Given the description of an element on the screen output the (x, y) to click on. 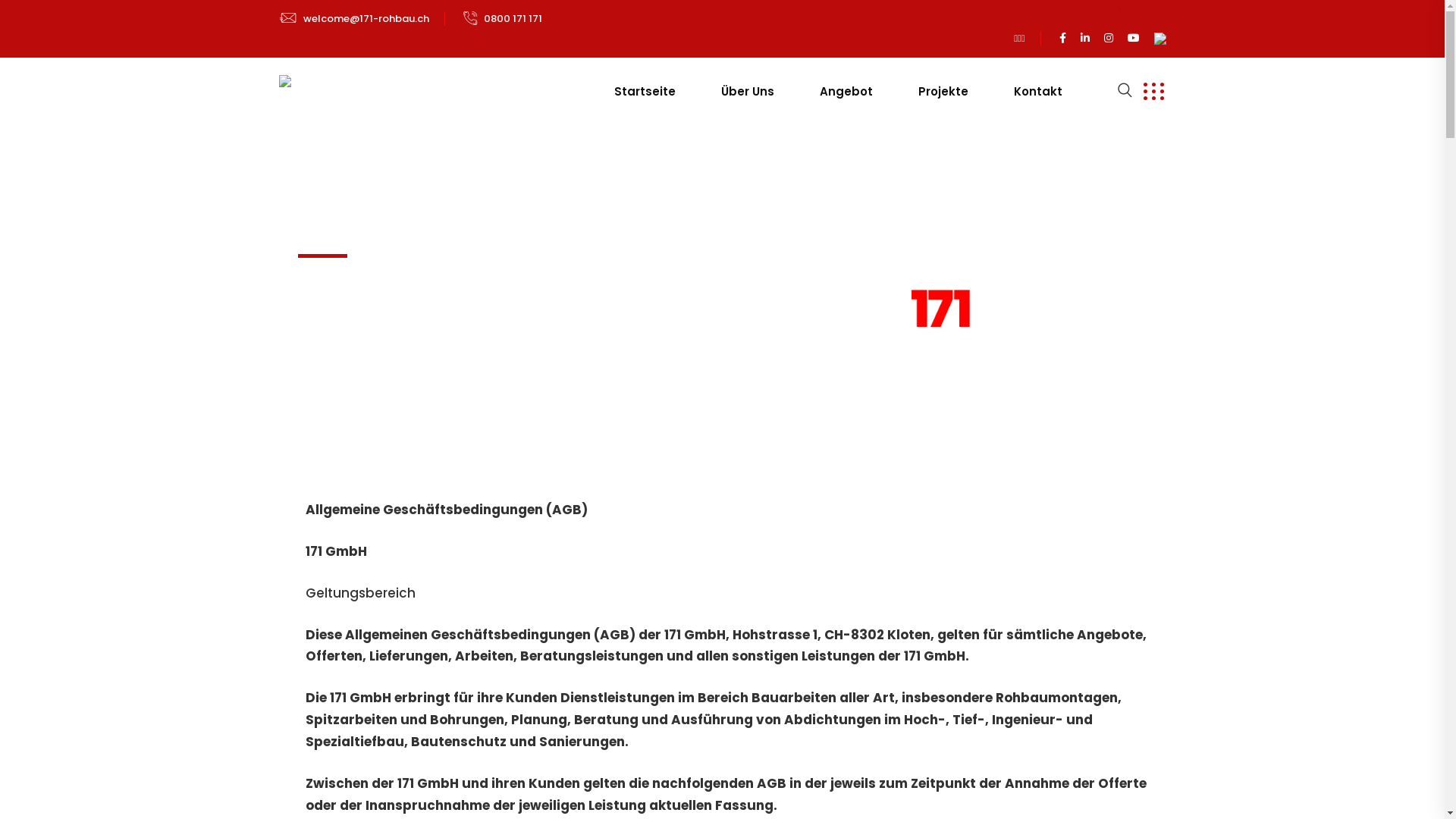
EN Element type: text (1116, 10)
welcome@171-rohbau.ch Element type: text (374, 18)
DE Element type: text (1146, 10)
FR Element type: text (1132, 10)
IT Element type: text (1161, 10)
Kontakt Element type: text (1037, 91)
Projekte Element type: text (942, 91)
0800 171 171 Element type: text (520, 18)
Startseite Element type: text (644, 91)
Angebot Element type: text (845, 91)
